Given the description of an element on the screen output the (x, y) to click on. 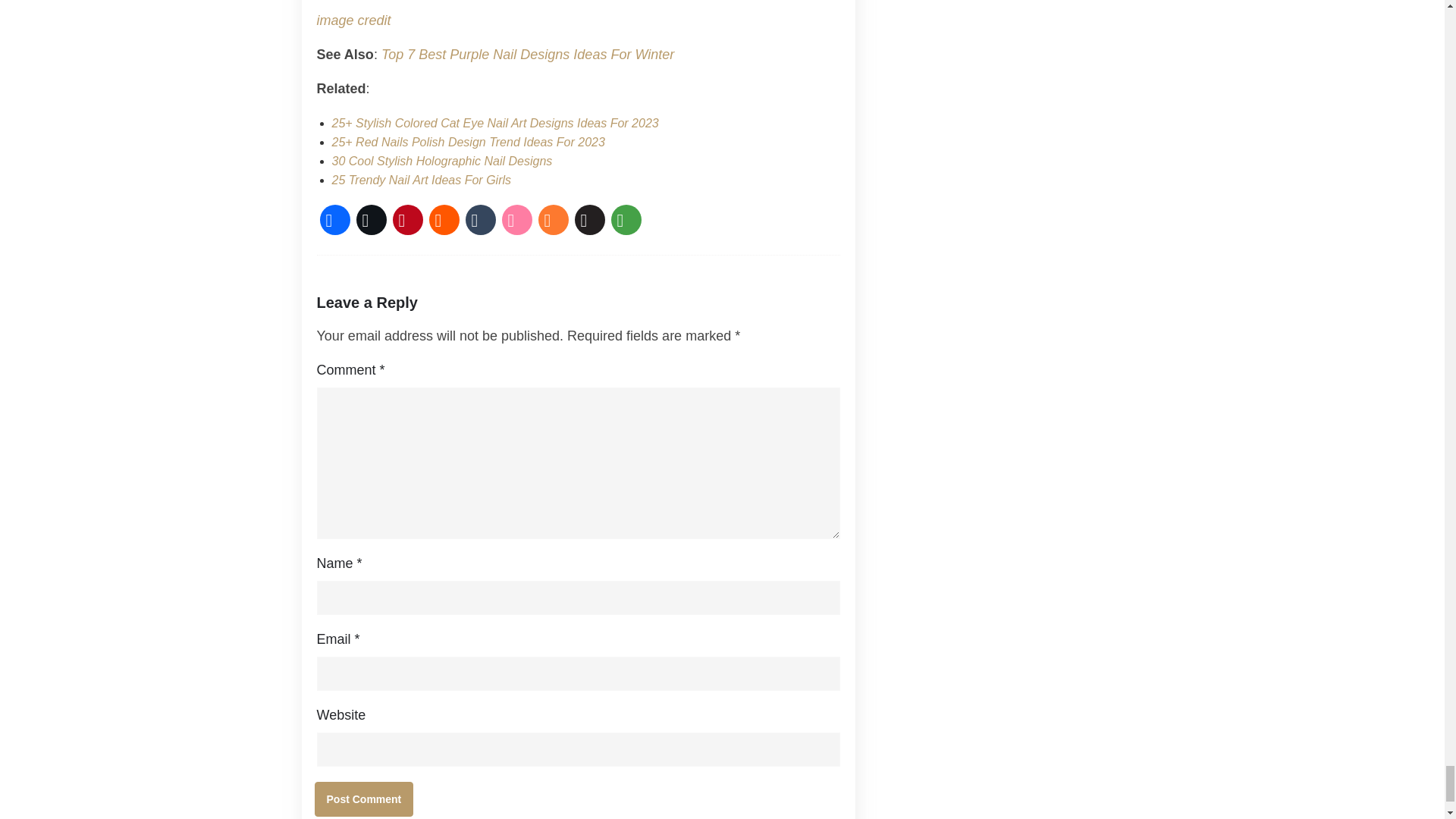
More Options (626, 219)
Pinterest (408, 219)
Facebook (335, 219)
Buffer (590, 219)
Tumblr (481, 219)
Blogger Post (553, 219)
Reddit (444, 219)
Post Comment (363, 799)
We Heart It (517, 219)
